Given the description of an element on the screen output the (x, y) to click on. 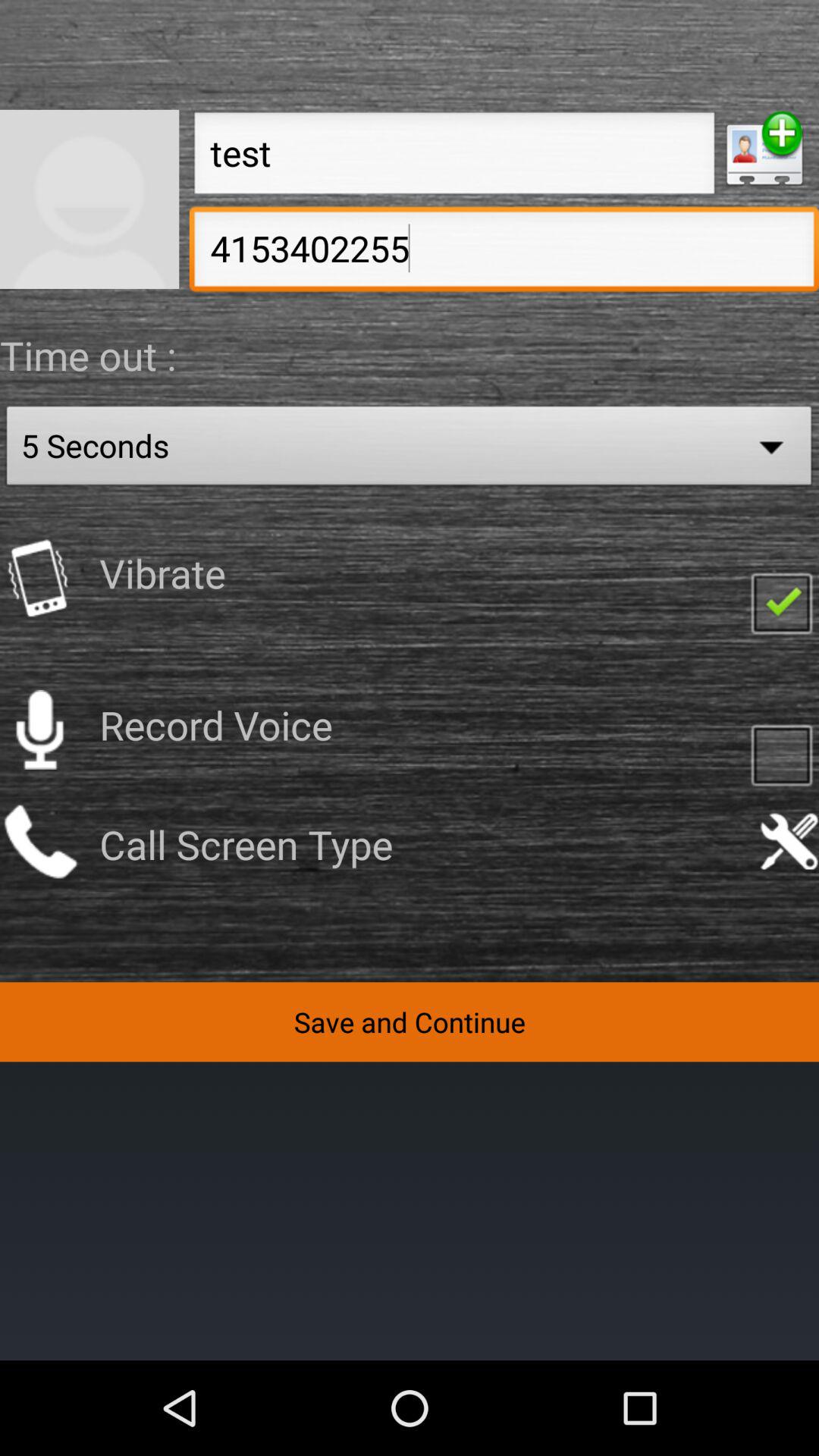
click to the call screen setting (789, 841)
